Given the description of an element on the screen output the (x, y) to click on. 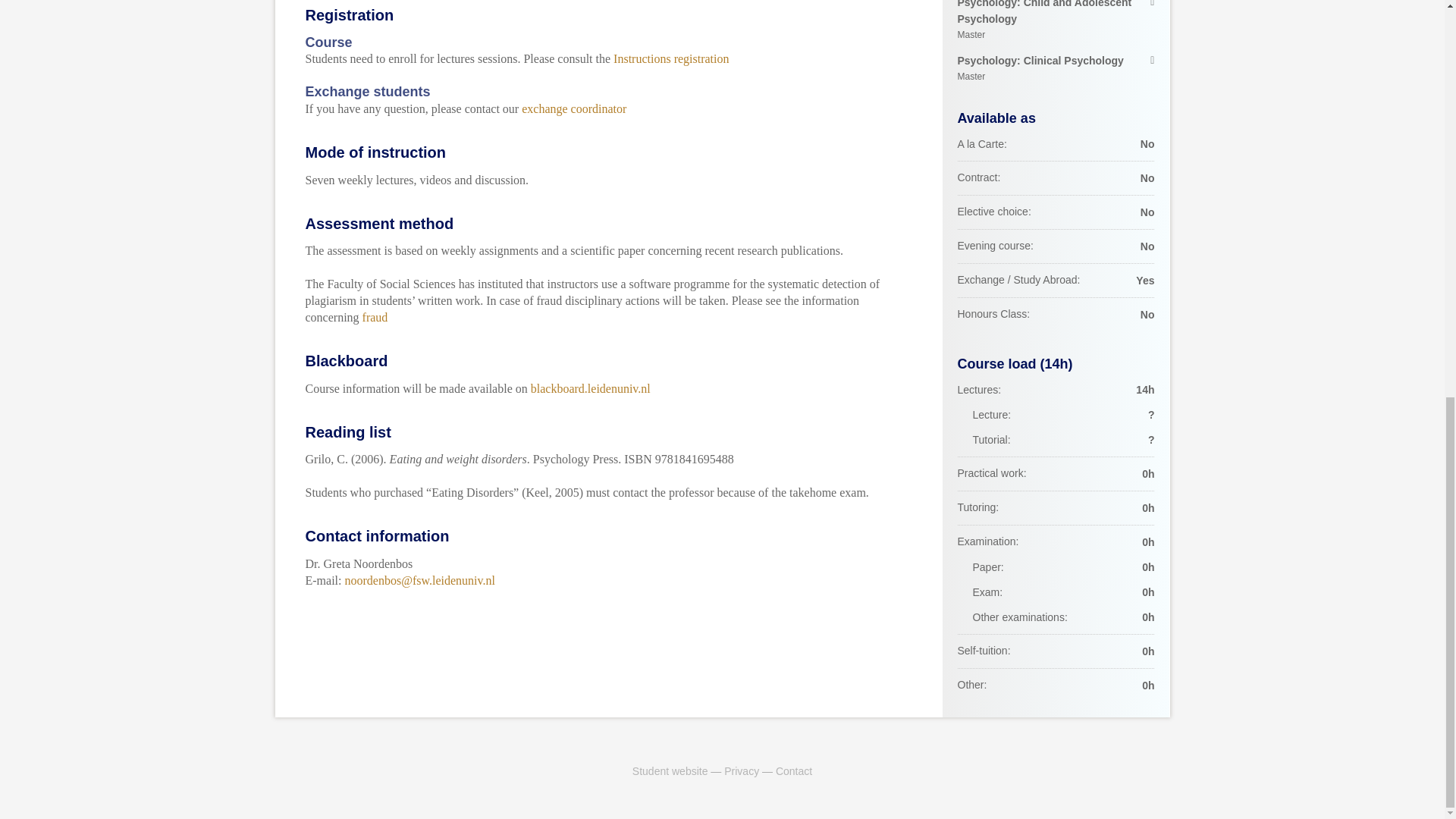
Student website (1055, 22)
Contact (669, 770)
blackboard.leidenuniv.nl (794, 770)
Privacy (590, 388)
exchange coordinator (740, 770)
Instructions registration (573, 108)
fraud (1055, 68)
